Given the description of an element on the screen output the (x, y) to click on. 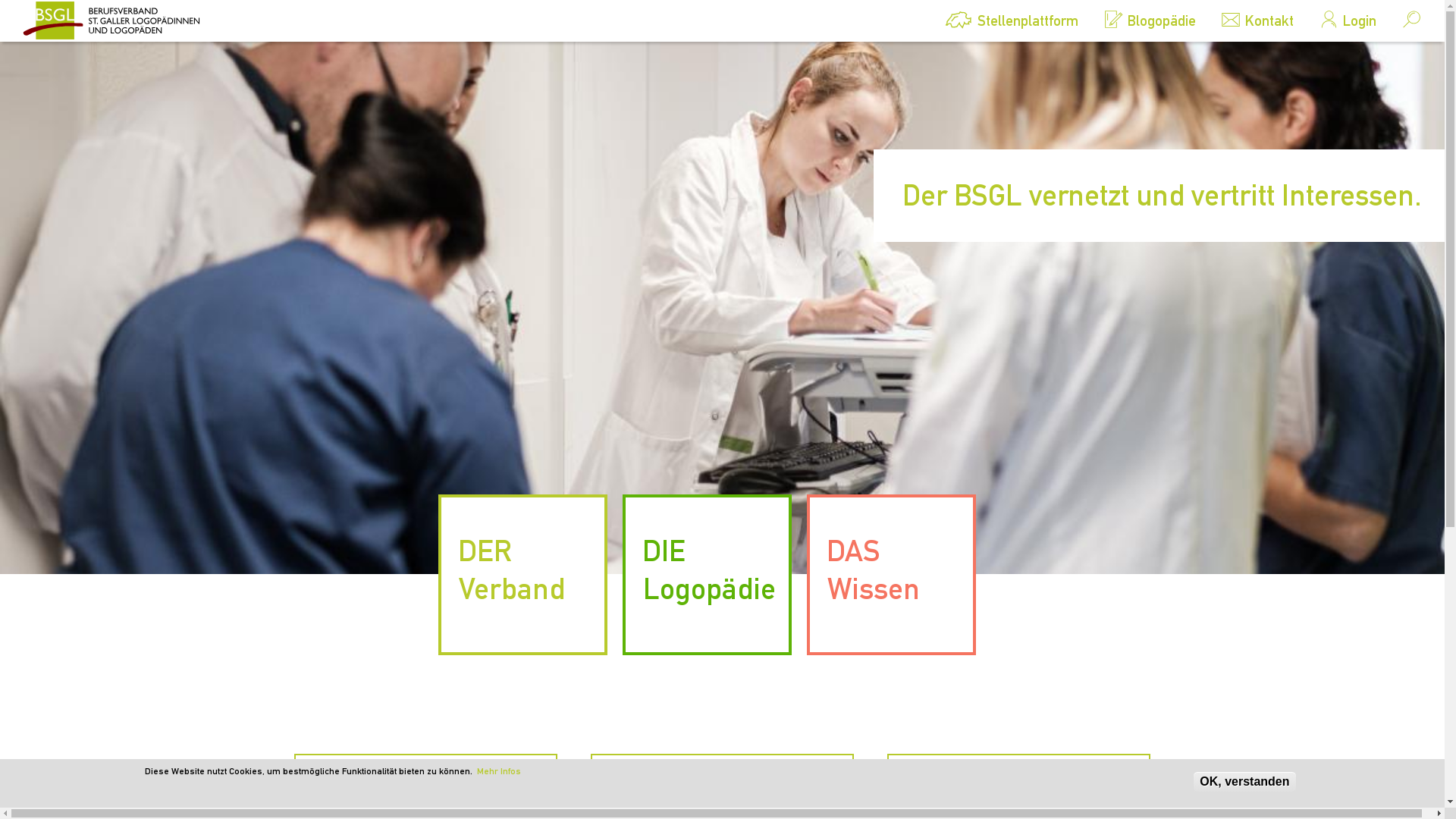
Mehr Infos Element type: text (498, 770)
Stellenplattform Element type: text (1010, 24)
Kontakt Element type: text (1252, 20)
Login Element type: text (1342, 20)
St.Gallen Element type: hover (136, 20)
Direkt zum Inhalt Element type: text (46, 0)
OK, verstanden Element type: text (1243, 781)
